Given the description of an element on the screen output the (x, y) to click on. 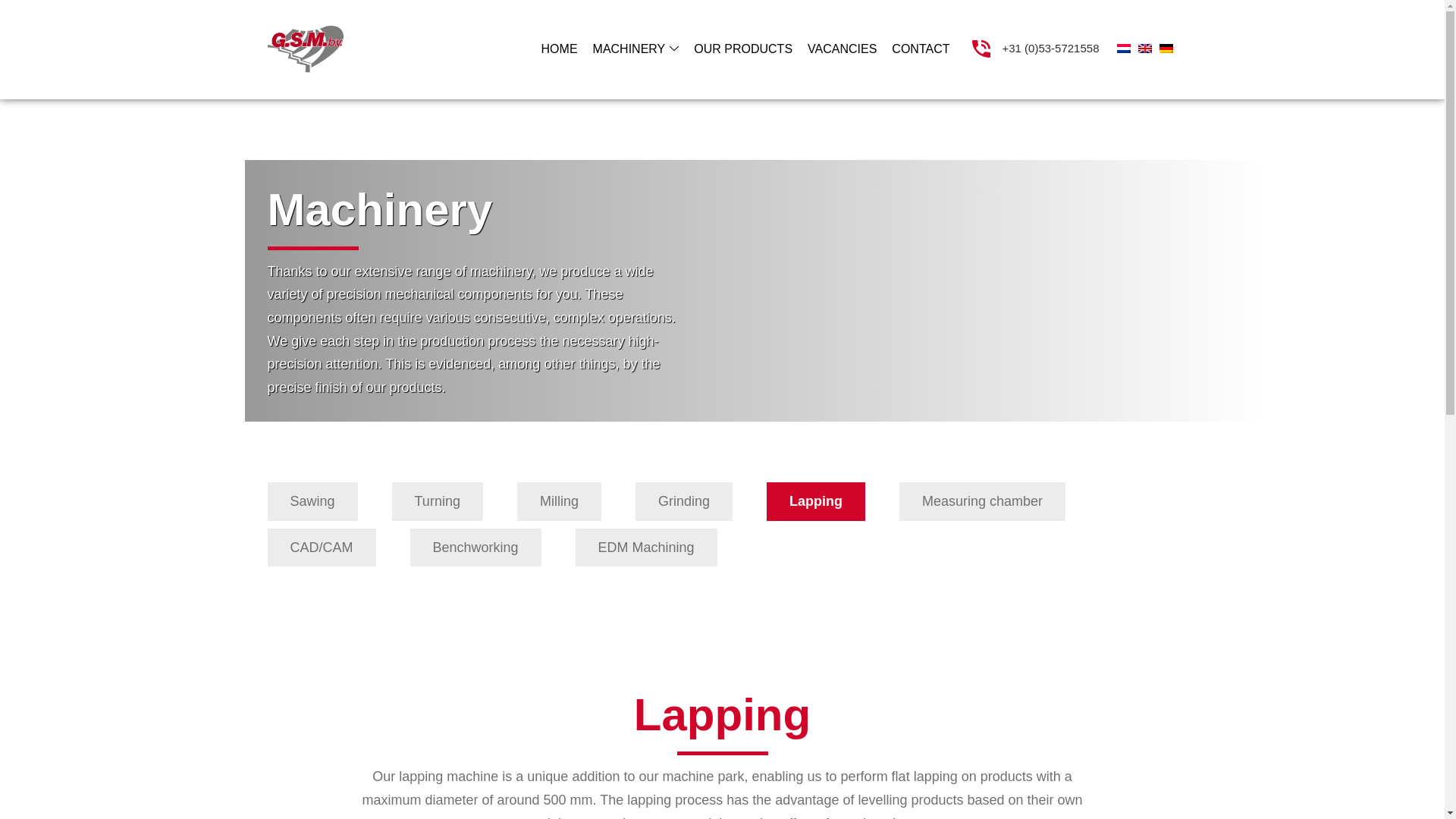
CONTACT (919, 49)
HOME (559, 49)
Benchworking (475, 547)
Lapping (815, 501)
MACHINERY (636, 49)
VACANCIES (841, 49)
EDM Machining (646, 547)
OUR PRODUCTS (742, 49)
Milling (558, 501)
Measuring chamber (982, 501)
Sawing (311, 501)
Turning (437, 501)
Grinding (683, 501)
